Given the description of an element on the screen output the (x, y) to click on. 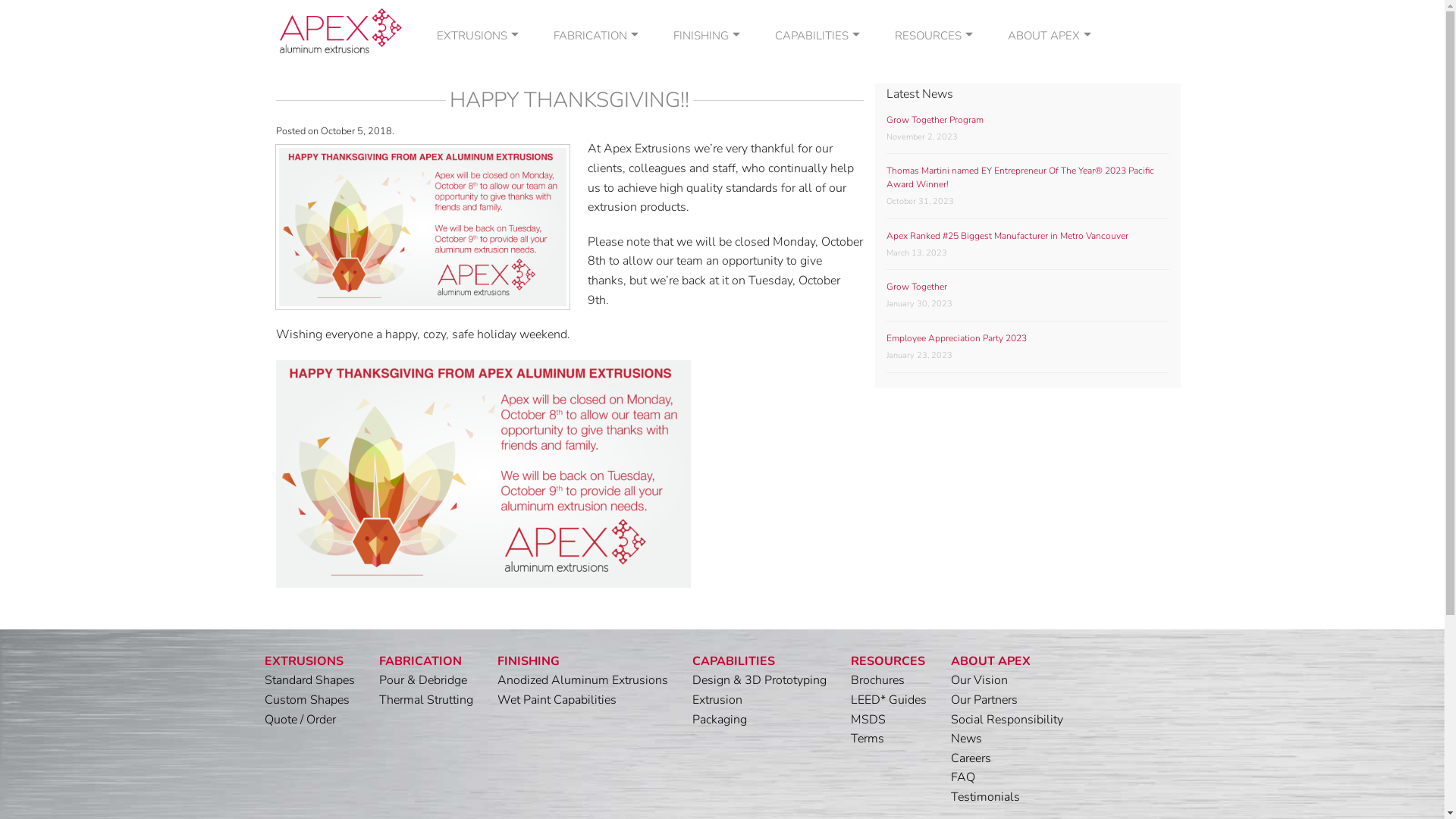
Social Responsibility Element type: text (1006, 719)
Thermal Strutting Element type: text (426, 699)
MSDS Element type: text (867, 719)
PACKAGING Element type: text (816, 119)
RESOURCES Element type: text (932, 35)
FABRICATION Element type: text (420, 660)
Our Vision Element type: text (978, 679)
QUOTE / ORDER Element type: text (476, 119)
LEED* GUIDES Element type: text (932, 92)
Design & 3D Prototyping Element type: text (758, 679)
Custom Shapes Element type: text (305, 699)
LEED* Guides Element type: text (888, 699)
Standard Shapes Element type: text (308, 679)
MSDS Element type: text (932, 119)
ANODIZED ALUMINUM EXTRUSIONS Element type: text (705, 66)
FAQ Element type: text (1049, 225)
CUSTOM SHAPES Element type: text (476, 92)
THERMAL STRUTTING Element type: text (595, 92)
OUR VISION Element type: text (1049, 66)
CAPABILITIES Element type: text (816, 35)
FINISHING Element type: text (528, 660)
Brochures Element type: text (877, 679)
DESIGN & 3D PROTOTYPING Element type: text (816, 66)
Terms Element type: text (867, 738)
POUR & DEBRIDGE Element type: text (595, 66)
ABOUT APEX Element type: text (990, 660)
EXTRUSIONS Element type: text (302, 660)
Careers Element type: text (970, 757)
NEWS Element type: text (1049, 119)
CAREERS Element type: text (1049, 198)
Grow Together Program Element type: text (934, 119)
Grow Together Element type: text (916, 286)
Our Partners Element type: text (983, 699)
TESTIMONIALS Element type: text (1049, 251)
ABOUT APEX Element type: text (1049, 35)
FABRICATION Element type: text (595, 35)
EXTRUSION Element type: text (816, 92)
Packaging Element type: text (718, 719)
Anodized Aluminum Extrusions Element type: text (582, 679)
STANDARD SHAPES Element type: text (476, 66)
OUR PARTNERS Element type: text (1049, 145)
CAPABILITIES Element type: text (732, 660)
RESOURCES Element type: text (887, 660)
WET PAINT CAPABILITIES Element type: text (705, 92)
Quote / Order Element type: text (299, 719)
Wet Paint Capabilities Element type: text (556, 699)
CONTACT Element type: text (1049, 92)
Pour & Debridge Element type: text (423, 679)
Extrusion Element type: text (716, 699)
Employee Appreciation Party 2023 Element type: text (956, 338)
FAQ Element type: text (962, 776)
TERMS Element type: text (932, 145)
News Element type: text (966, 738)
BROCHURES Element type: text (932, 66)
Apex Ranked #25 Biggest Manufacturer in Metro Vancouver Element type: text (1007, 235)
SOCIAL RESPONSIBILITY Element type: text (1049, 172)
FINISHING Element type: text (705, 35)
EXTRUSIONS Element type: text (476, 35)
Testimonials Element type: text (984, 796)
